Given the description of an element on the screen output the (x, y) to click on. 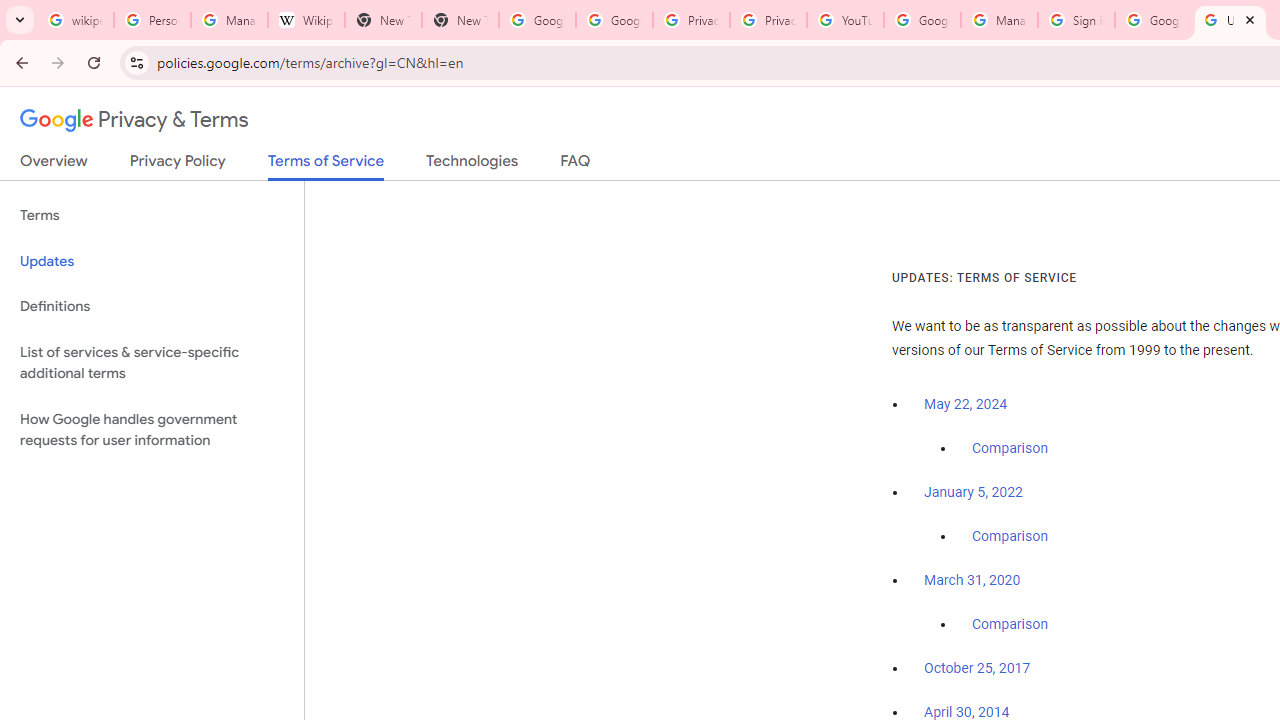
List of services & service-specific additional terms (152, 362)
October 25, 2017 (977, 669)
Privacy & Terms (134, 120)
January 5, 2022 (973, 492)
Terms of Service (326, 166)
Wikipedia:Edit requests - Wikipedia (306, 20)
Privacy Policy (177, 165)
New Tab (383, 20)
